Given the description of an element on the screen output the (x, y) to click on. 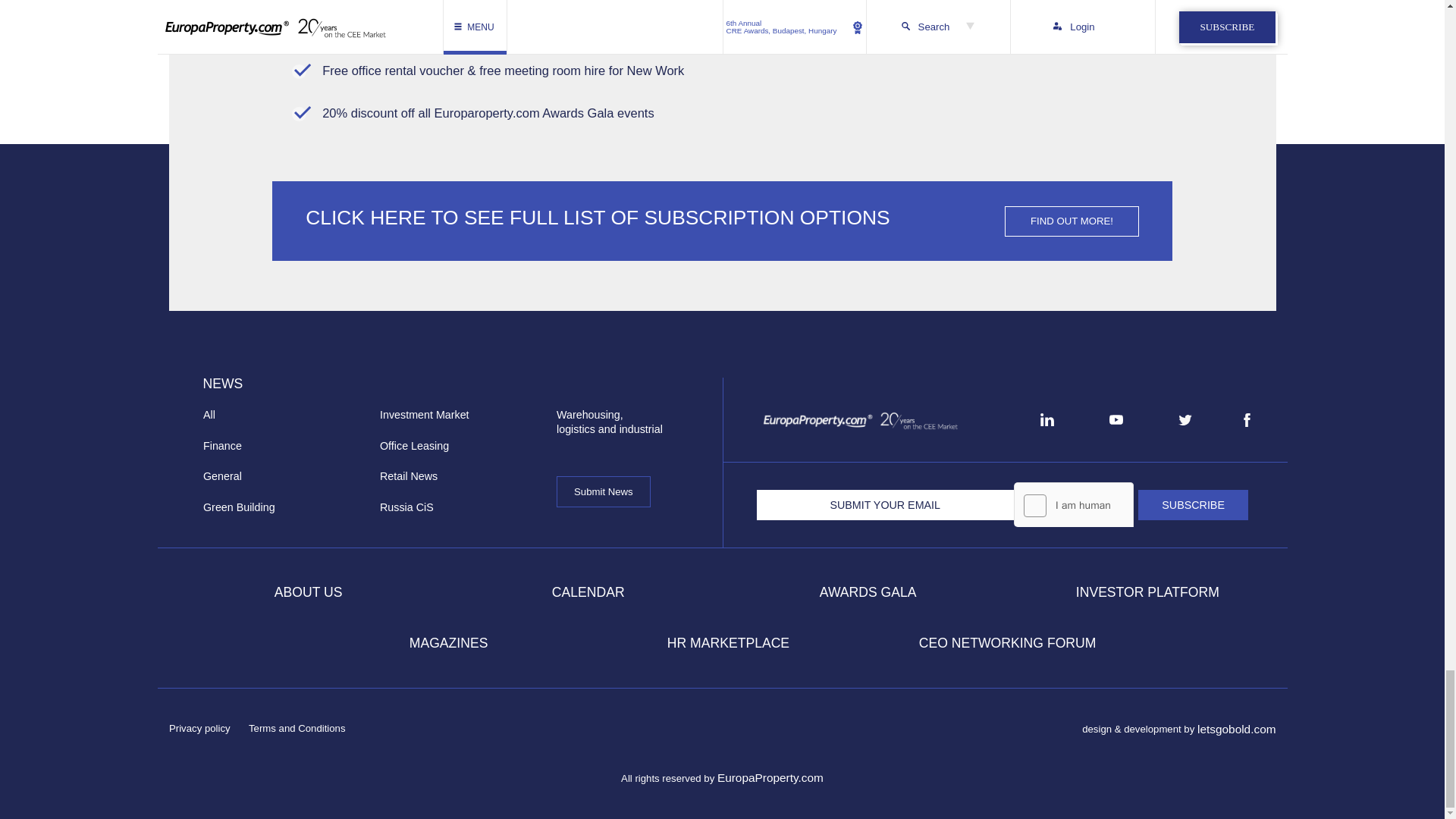
Widget containing checkbox for hCaptcha security challenge (1075, 536)
Subscribe (1192, 504)
